Given the description of an element on the screen output the (x, y) to click on. 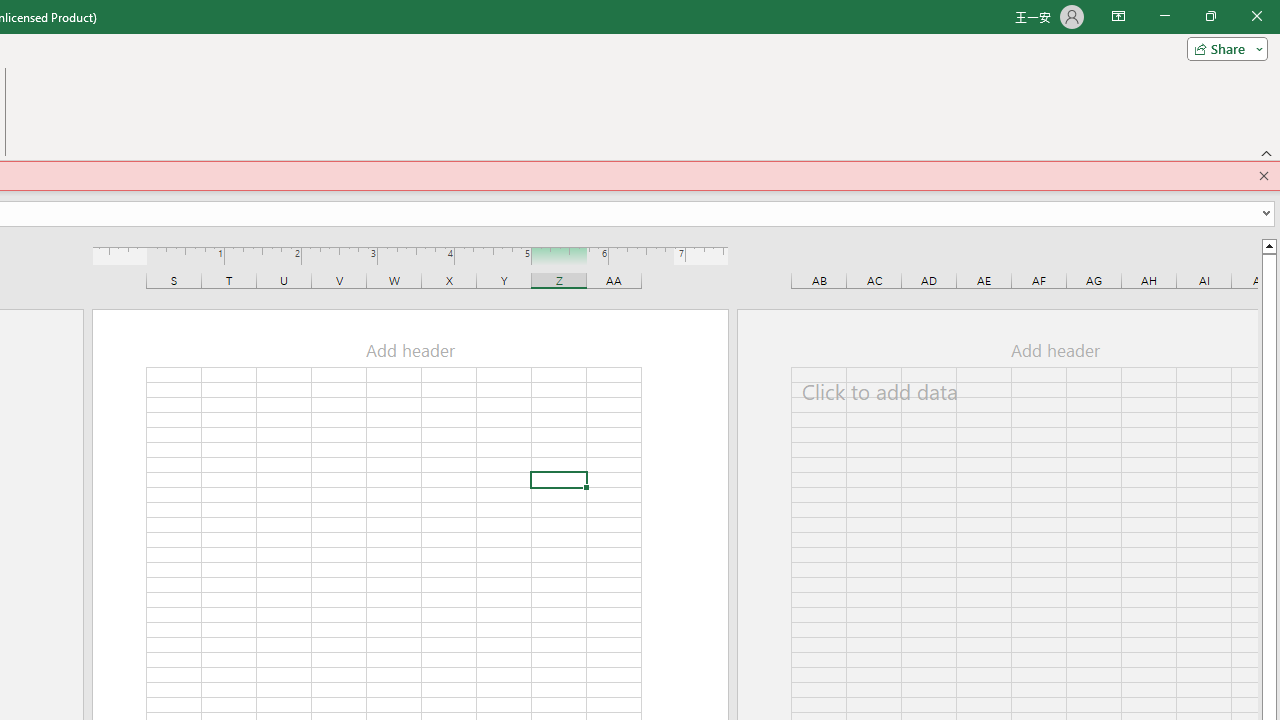
Close this message (1263, 176)
